Given the description of an element on the screen output the (x, y) to click on. 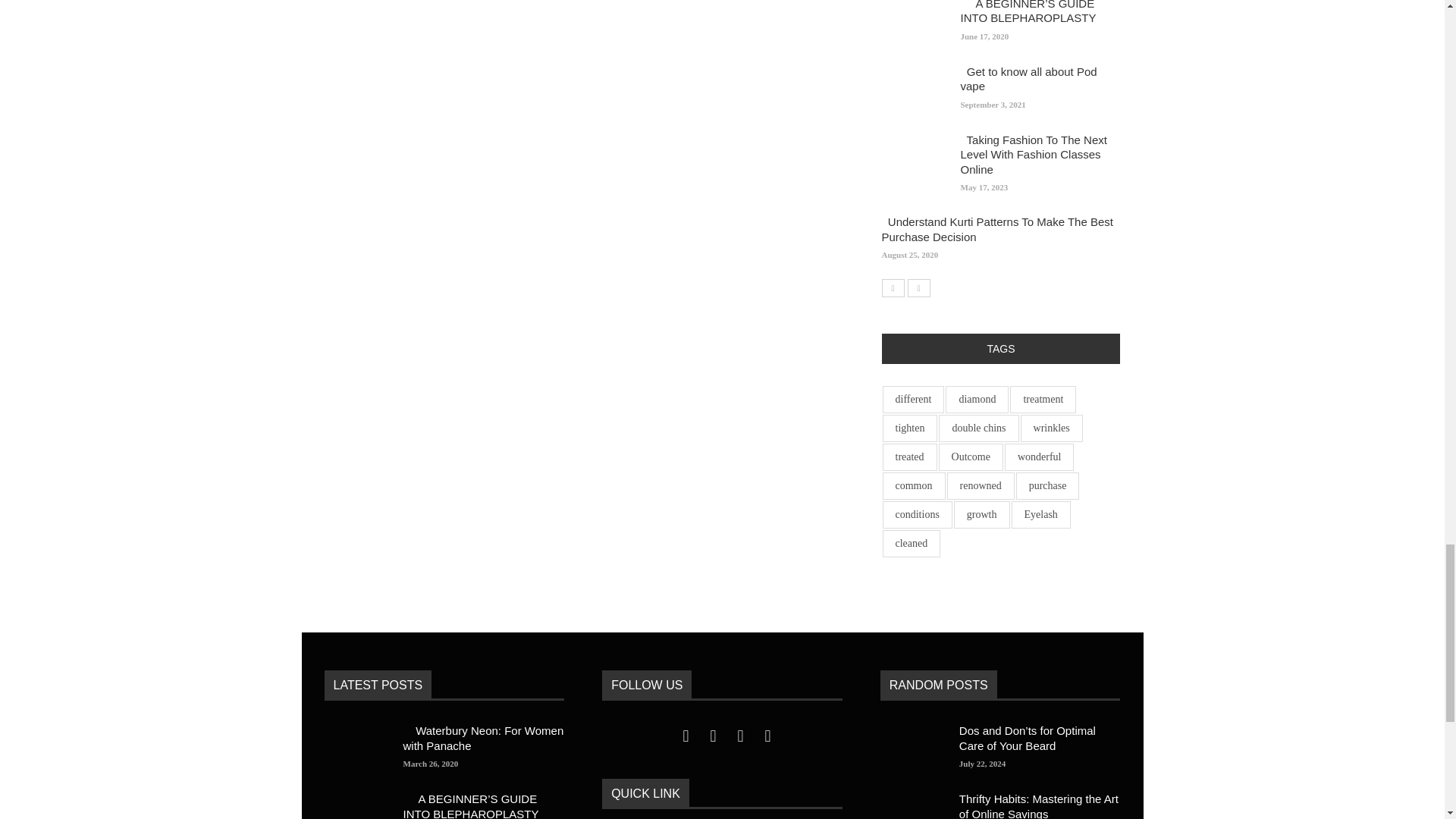
Previous (892, 288)
Next (918, 288)
